Given the description of an element on the screen output the (x, y) to click on. 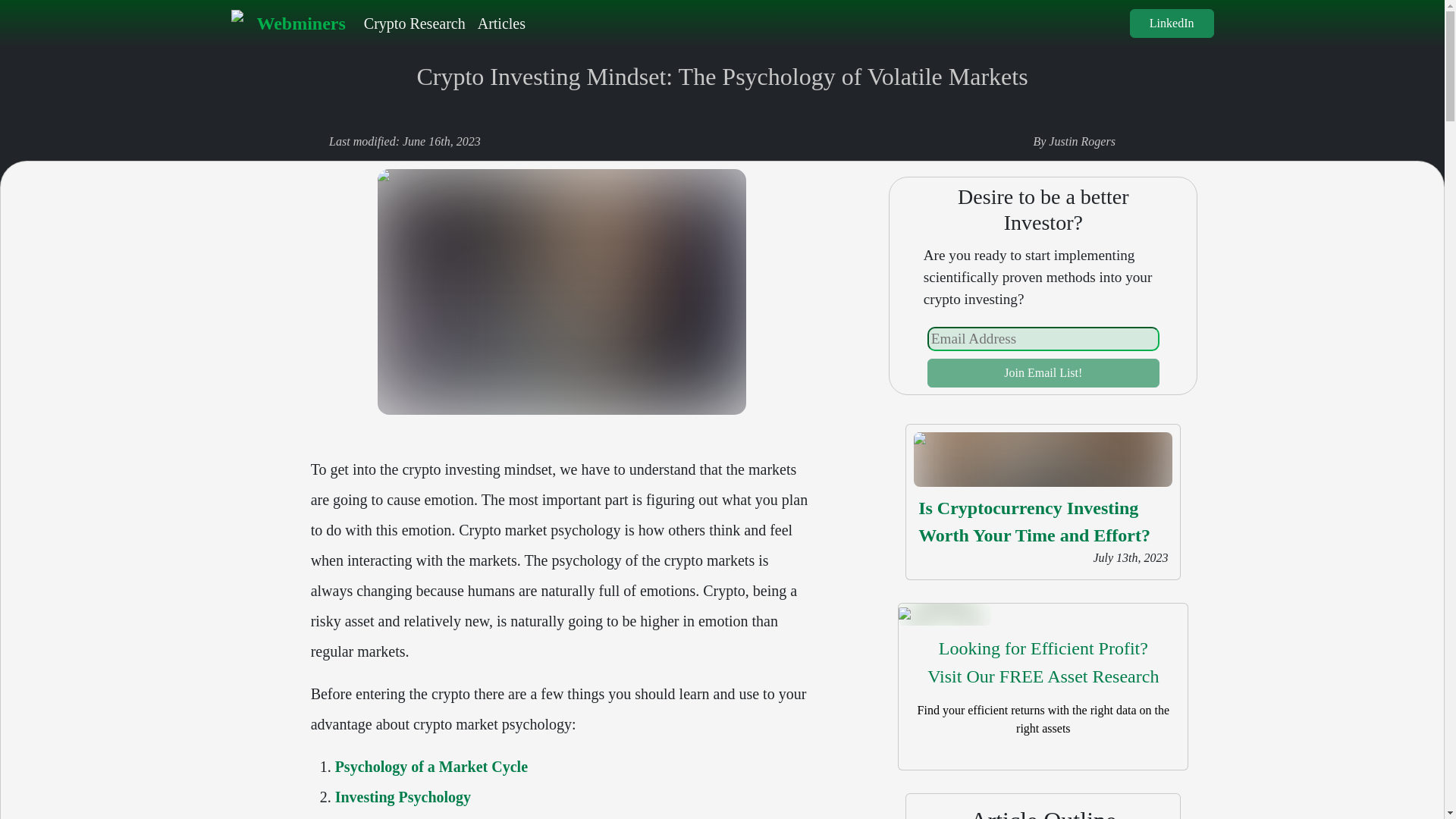
Articles (501, 22)
Investing Psychology (402, 796)
Join Email List! (1042, 372)
Psychology of a Market Cycle (430, 766)
Crypto Research (414, 22)
LinkedIn (1043, 662)
Webminers (1171, 23)
Is Cryptocurrency Investing Worth Your Time and Effort? (287, 22)
